Given the description of an element on the screen output the (x, y) to click on. 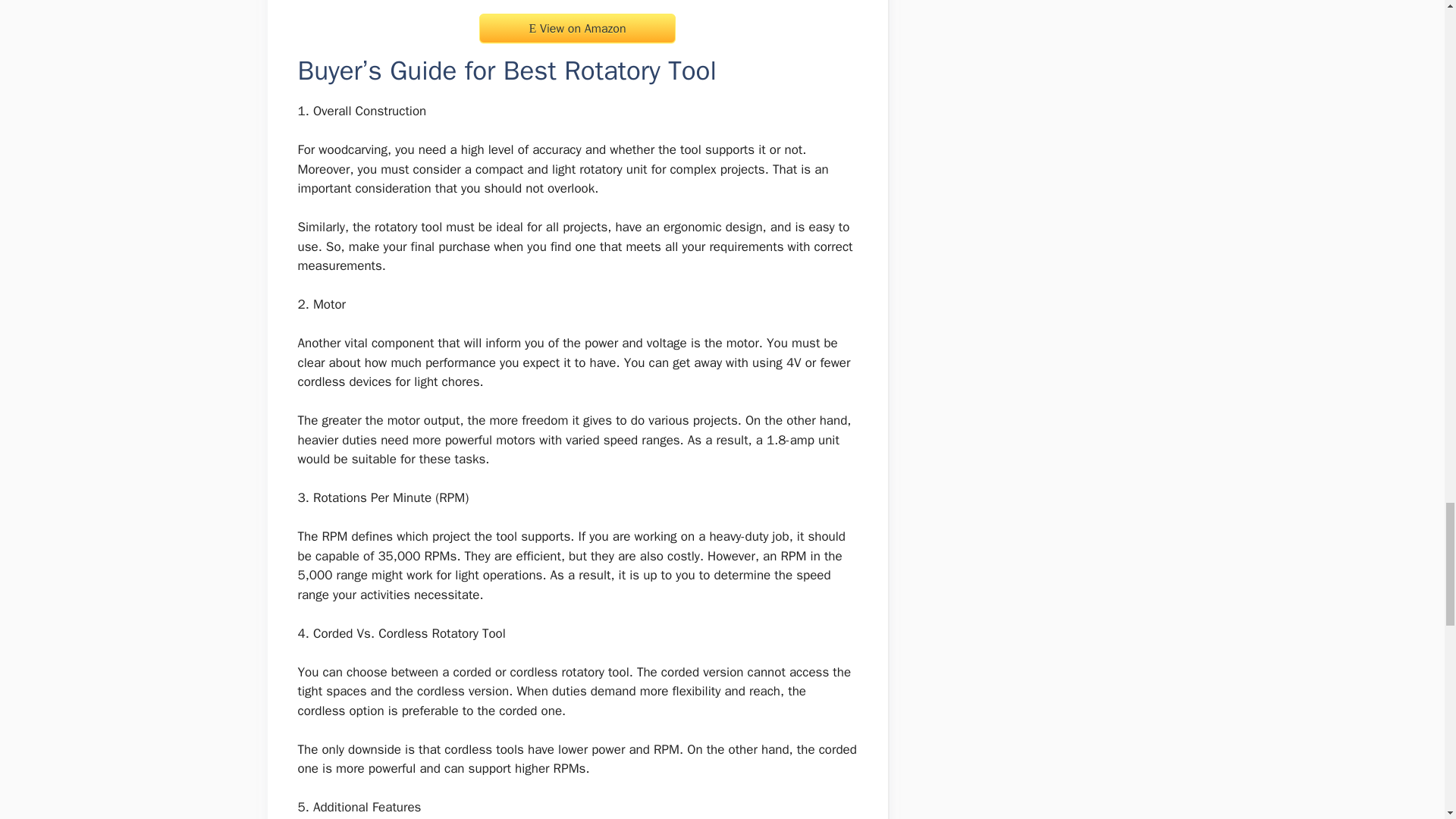
View on Amazon (577, 28)
